Given the description of an element on the screen output the (x, y) to click on. 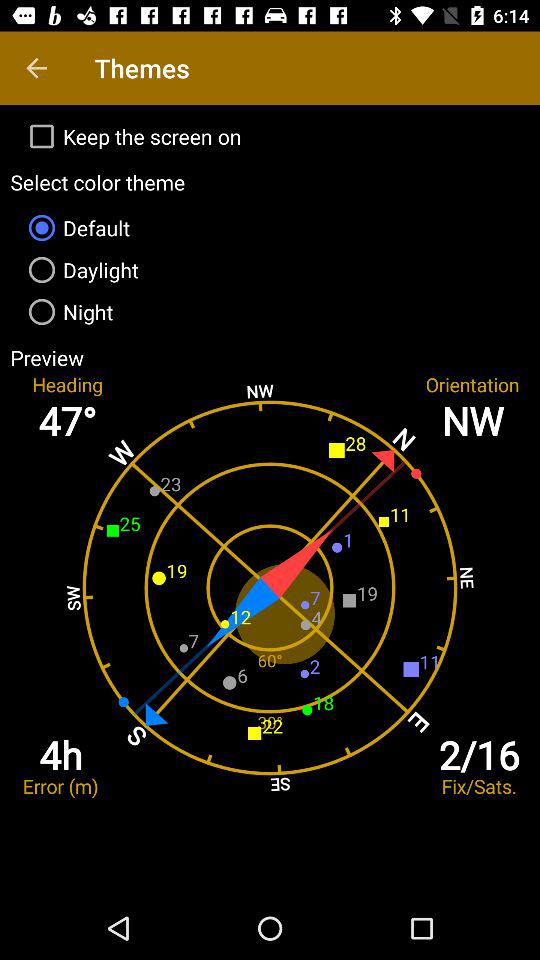
turn off the item below default (270, 269)
